Given the description of an element on the screen output the (x, y) to click on. 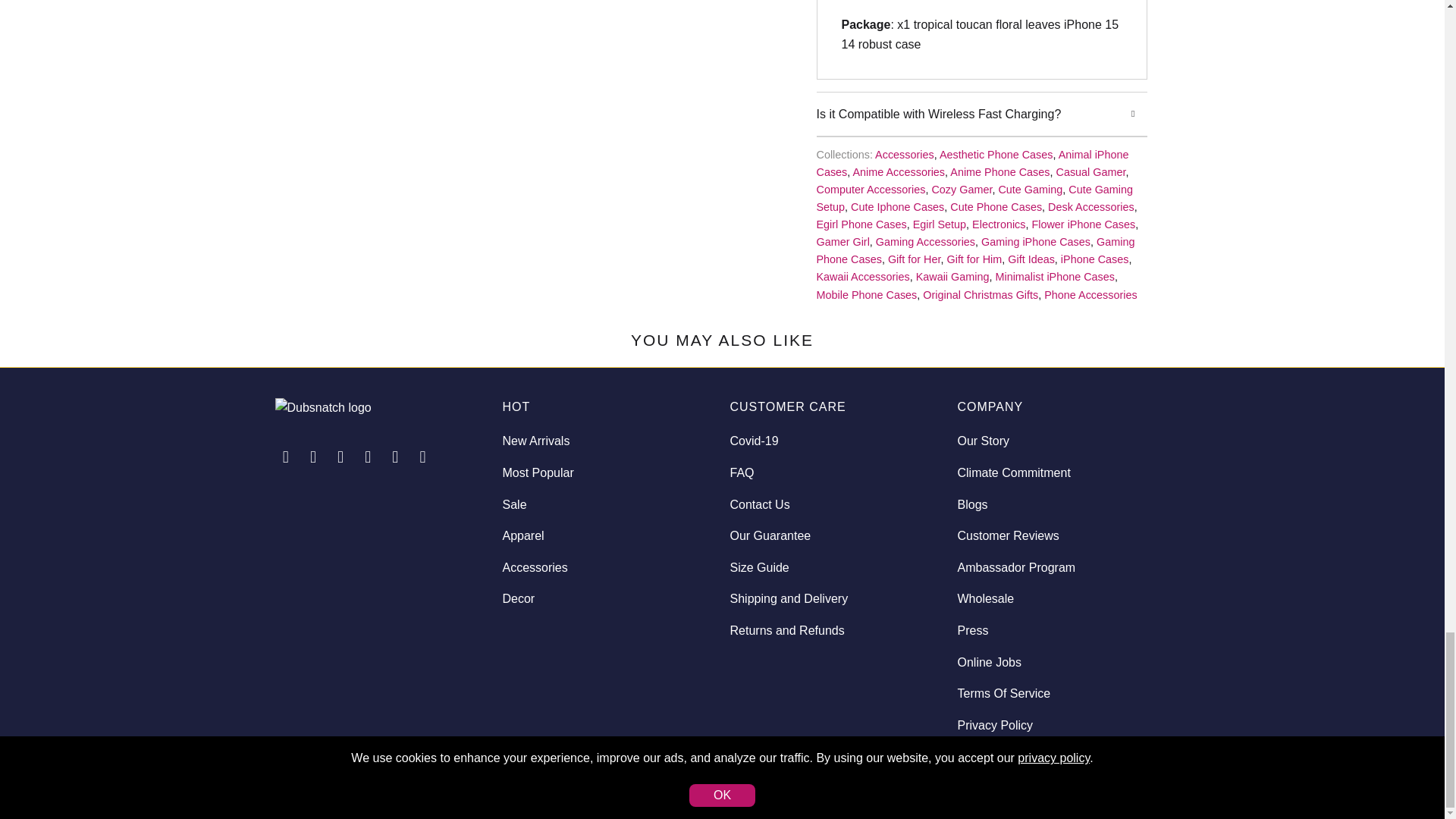
Mastercard (1072, 781)
Shop Pay (1111, 781)
American Express (1031, 781)
Visa (1150, 781)
